Given the description of an element on the screen output the (x, y) to click on. 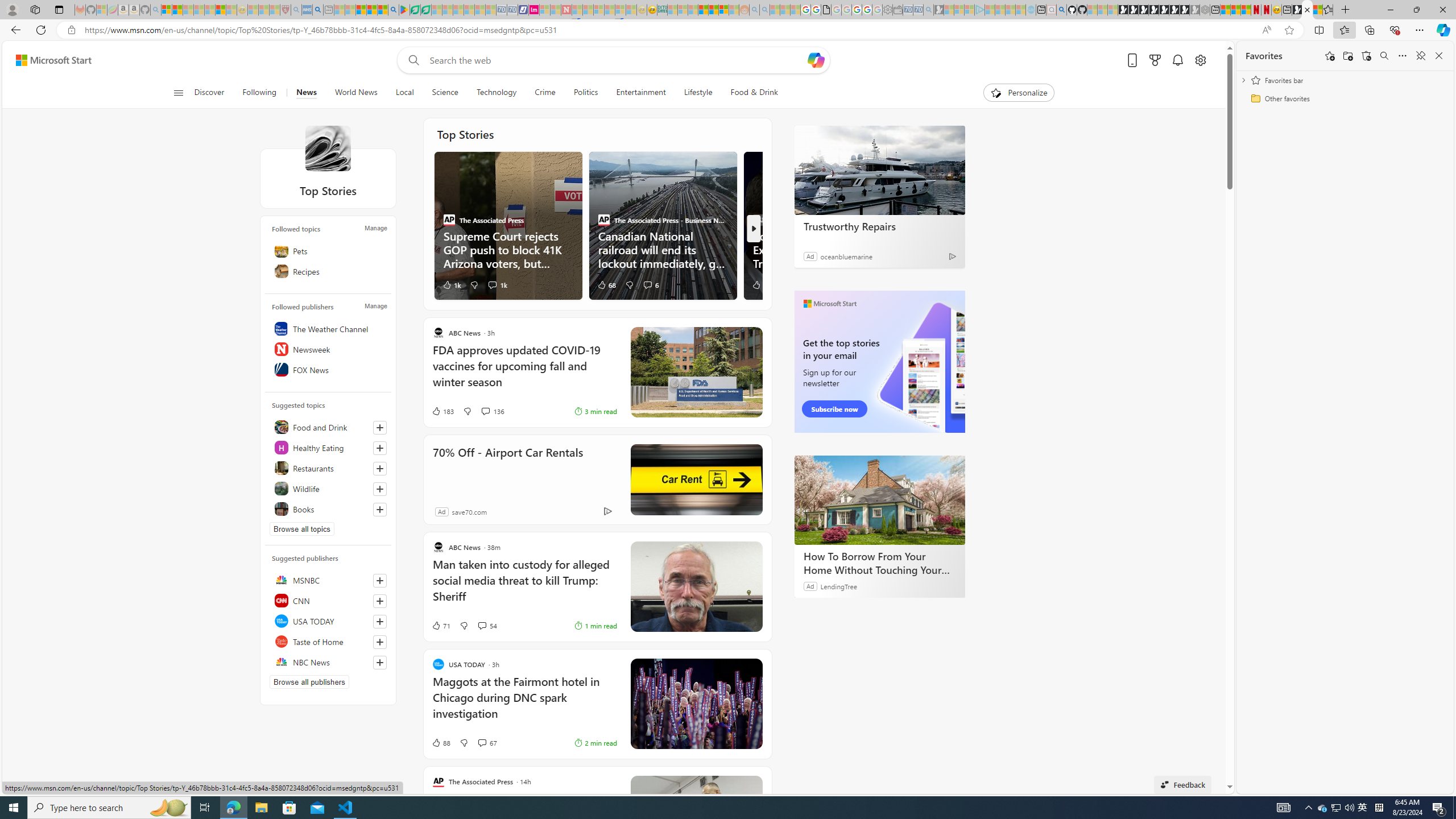
View comments 67 Comment (487, 742)
MSNBC (327, 579)
Microsoft Word - consumer-privacy address update 2.2021 (426, 9)
FOX News (327, 369)
